Given the description of an element on the screen output the (x, y) to click on. 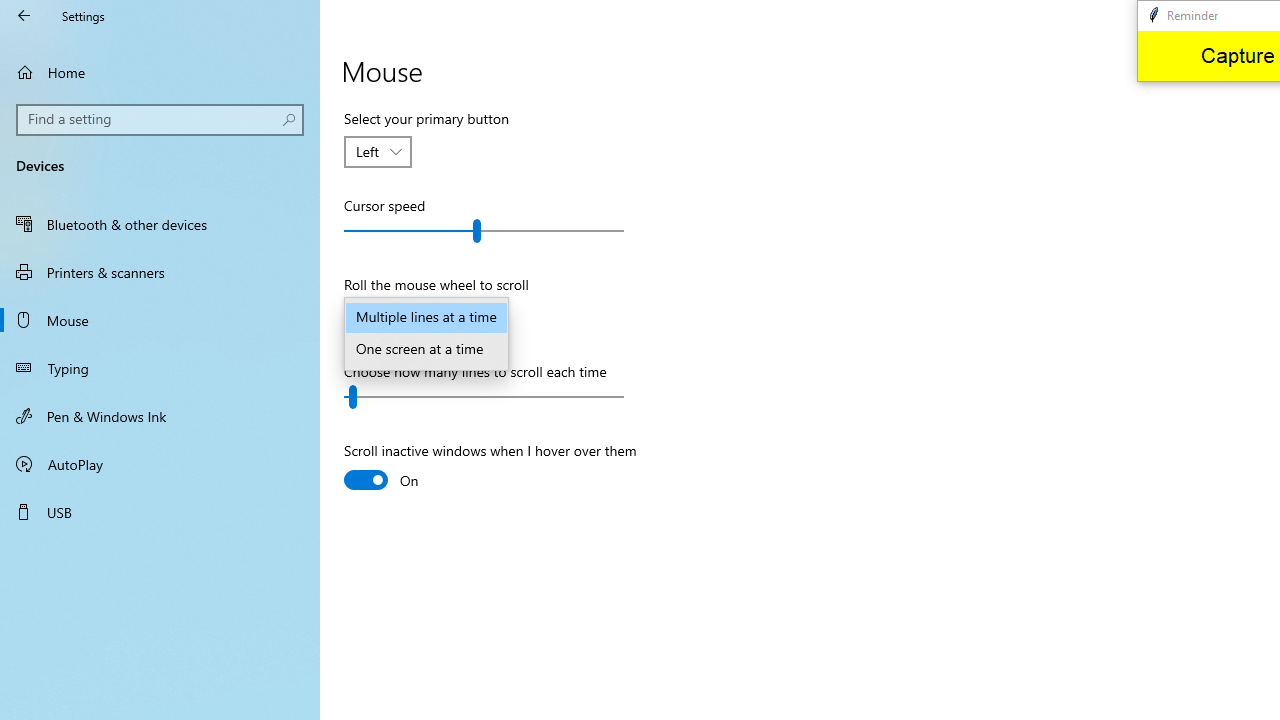
Left (367, 151)
Cursor speed (484, 230)
Bluetooth & other devices (160, 223)
USB (160, 511)
Scroll inactive windows when I hover over them (490, 468)
Multiple lines at a time (426, 317)
Roll the mouse wheel to scroll (376, 317)
Choose how many lines to scroll each time (484, 396)
Pen & Windows Ink (160, 415)
Printers & scanners (160, 271)
One screen at a time (426, 349)
Select your primary button (378, 151)
